Given the description of an element on the screen output the (x, y) to click on. 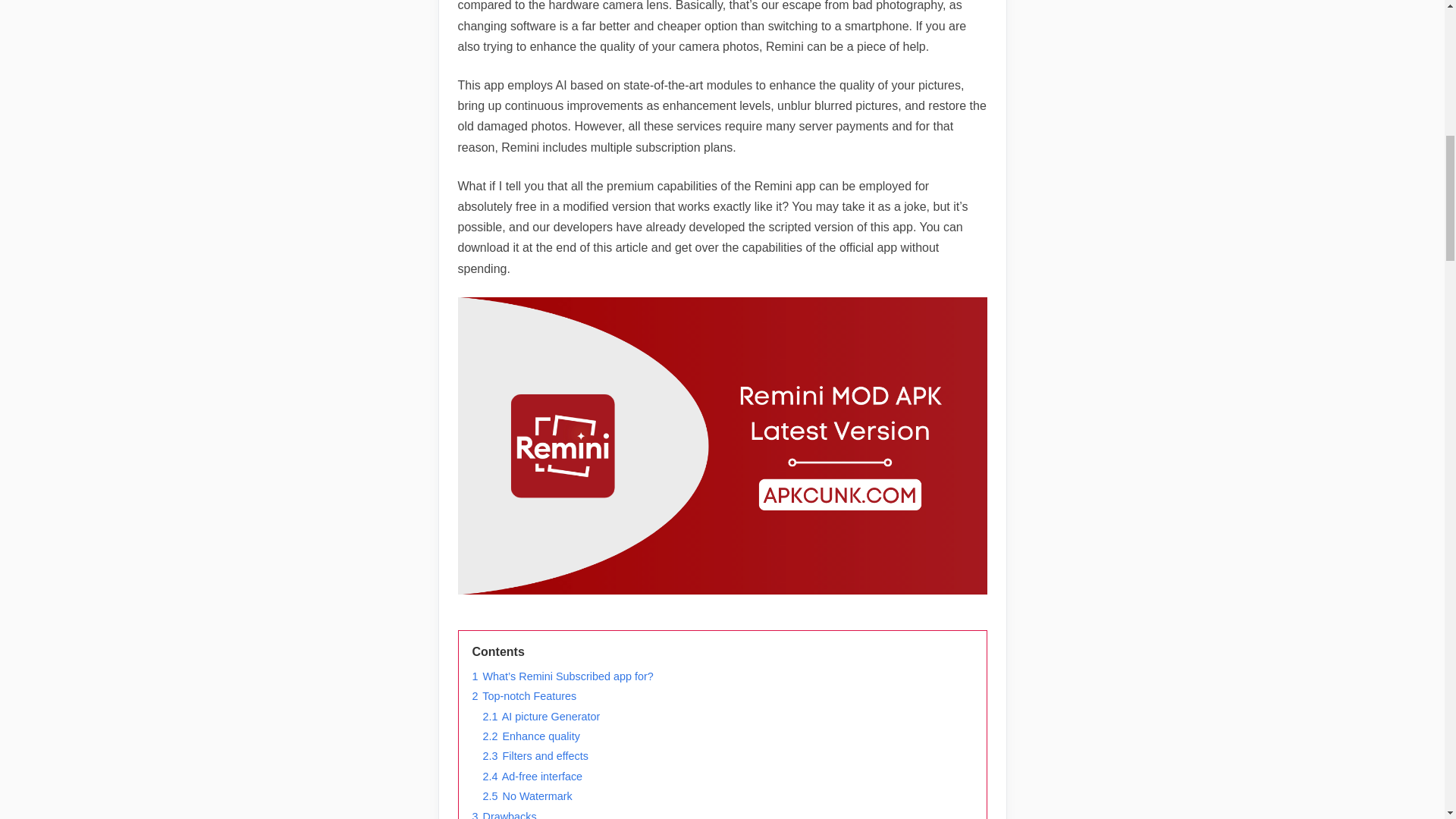
2.1 AI picture Generator (540, 716)
2 Top-notch Features (523, 695)
Scroll back to top (1406, 720)
